Given the description of an element on the screen output the (x, y) to click on. 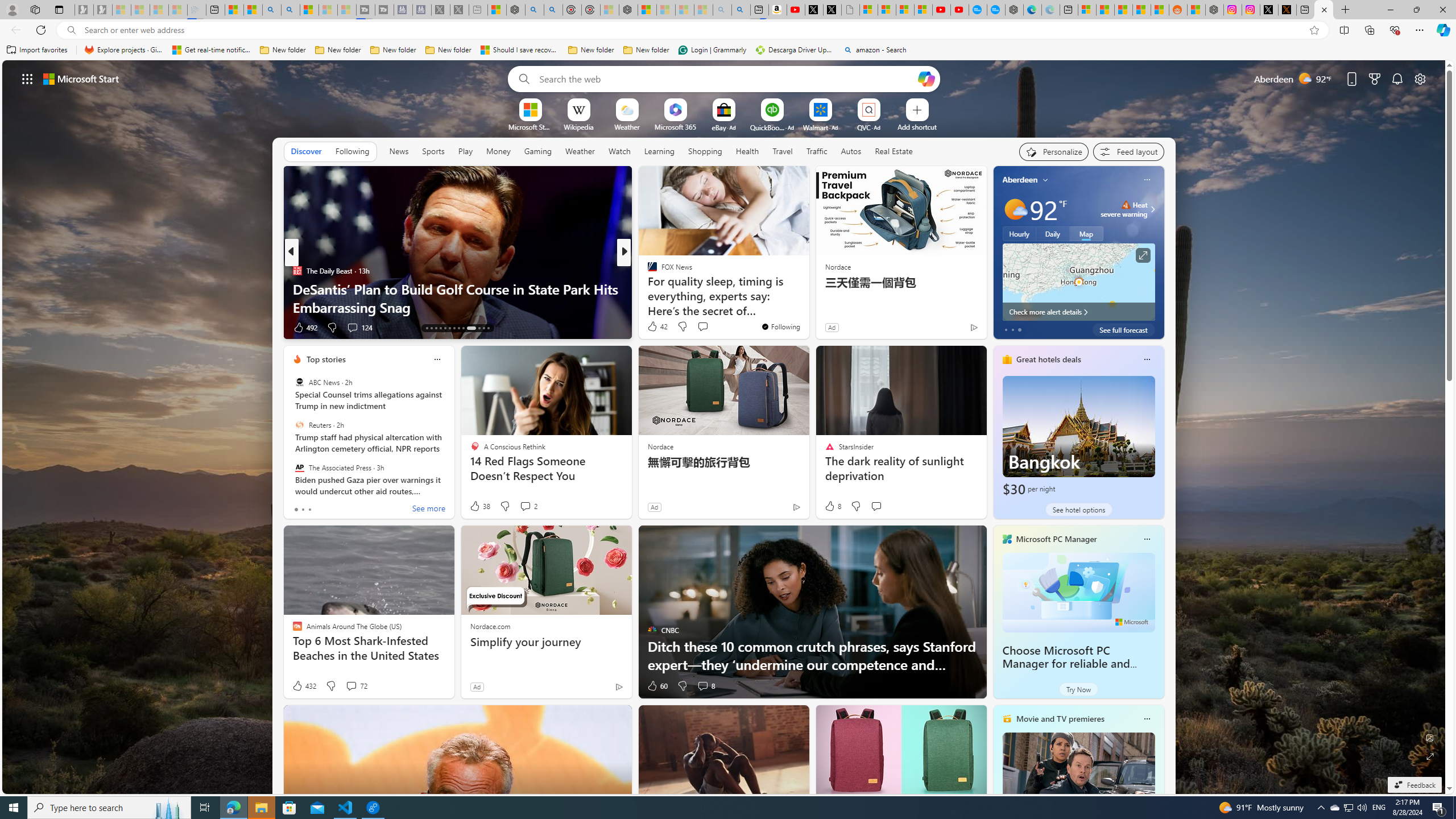
15 Behaviors You MUST Avoid If You Want to Earn Respect (807, 298)
Top stories (325, 359)
432 Like (303, 685)
New folder (646, 49)
Notifications (1397, 78)
Personalize your feed" (1054, 151)
Shanghai, China hourly forecast | Microsoft Weather (1123, 9)
Expand background (1430, 756)
See hotel options (1078, 509)
AutomationID: tab-22 (471, 328)
